Given the description of an element on the screen output the (x, y) to click on. 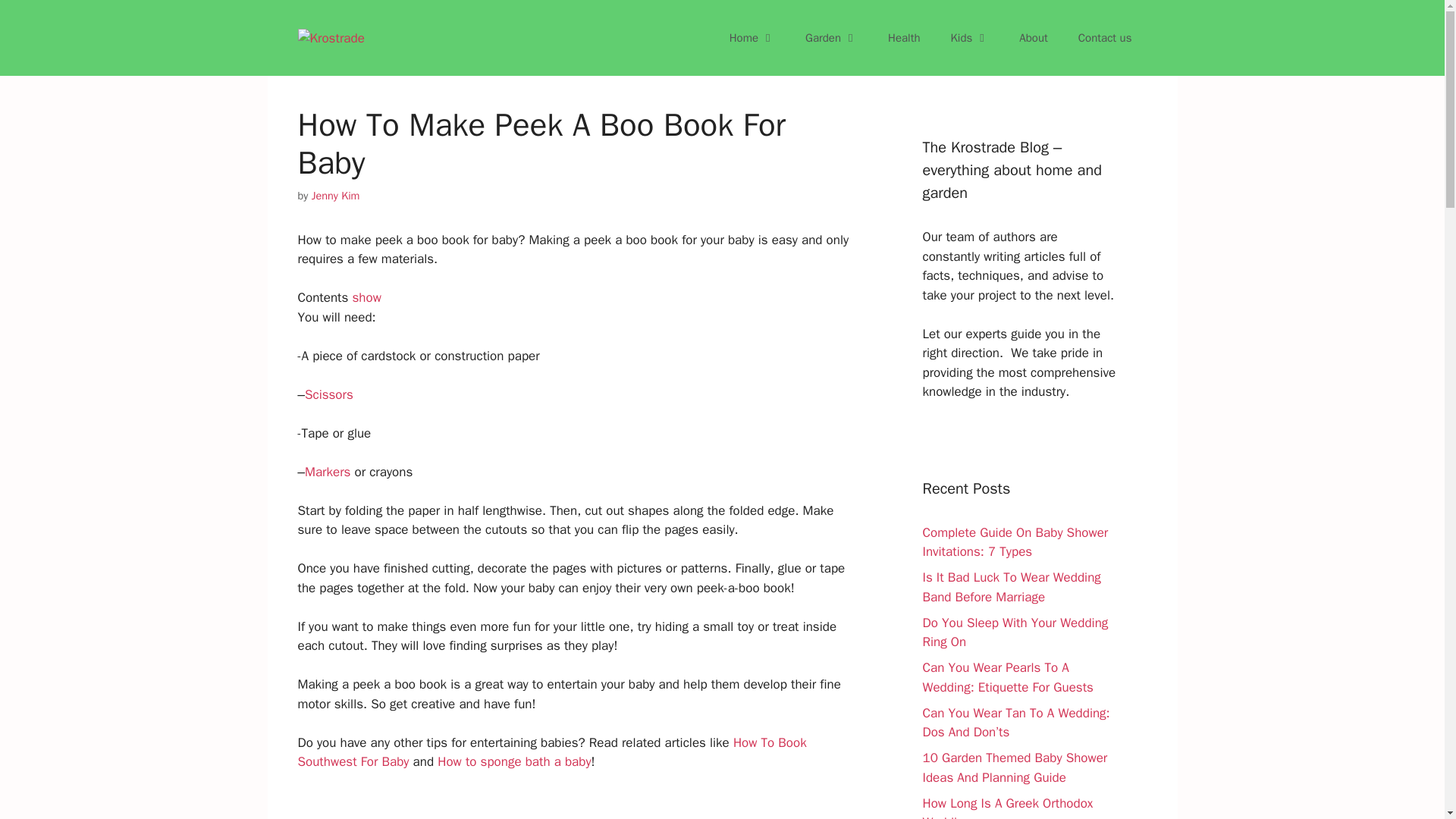
Home (752, 37)
Health (904, 37)
About (1033, 37)
Garden (831, 37)
Contact us (1104, 37)
View all posts by Jenny Kim (335, 195)
show (366, 297)
Jenny Kim (335, 195)
Kids (970, 37)
